Given the description of an element on the screen output the (x, y) to click on. 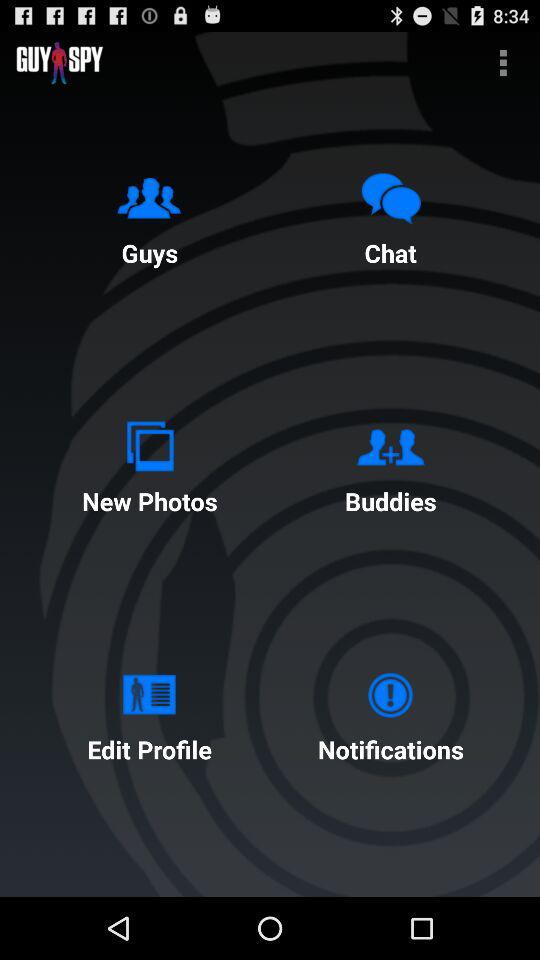
tap icon to the right of the guys icon (390, 215)
